Given the description of an element on the screen output the (x, y) to click on. 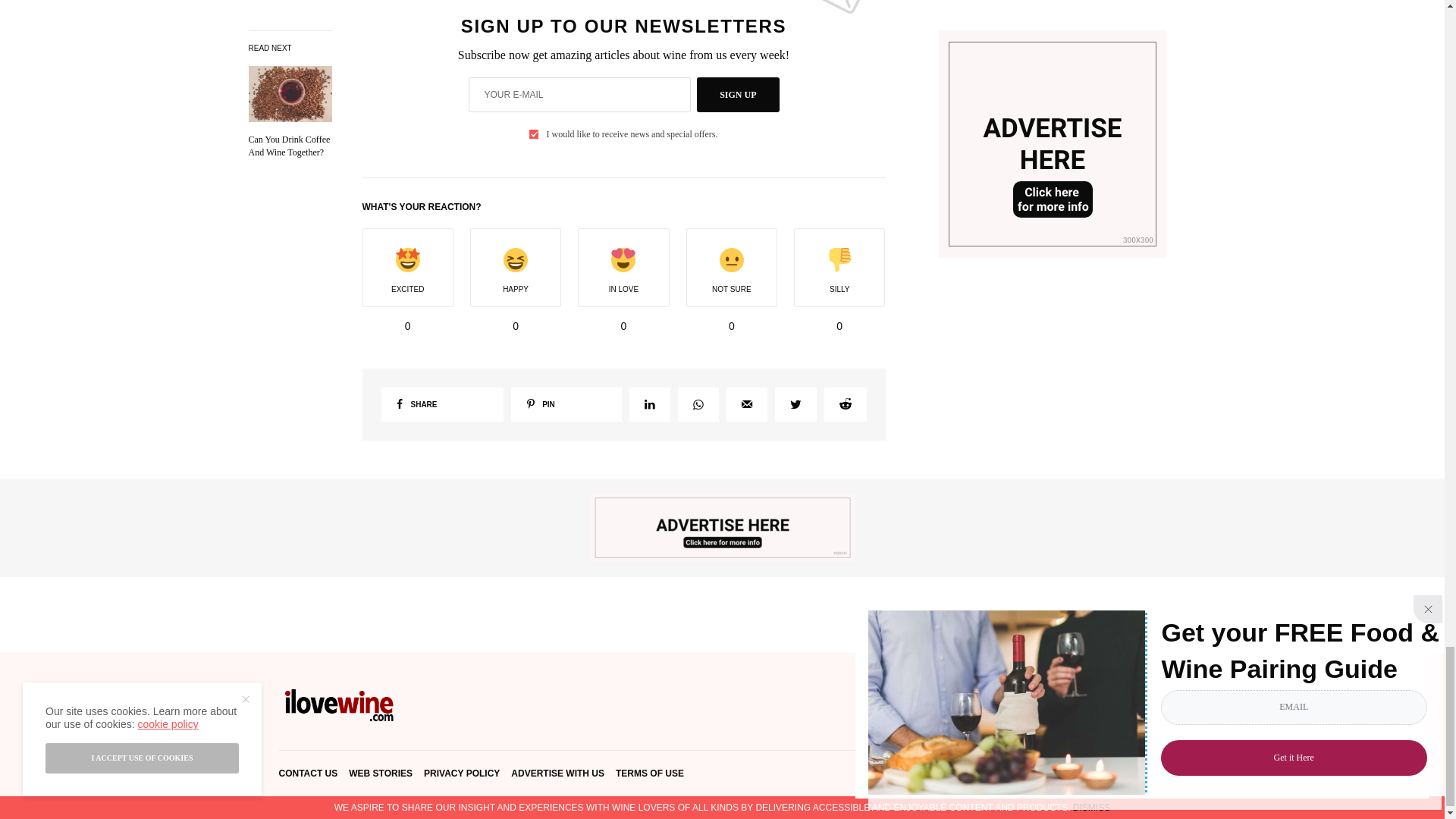
I Love Wine (339, 705)
